Given the description of an element on the screen output the (x, y) to click on. 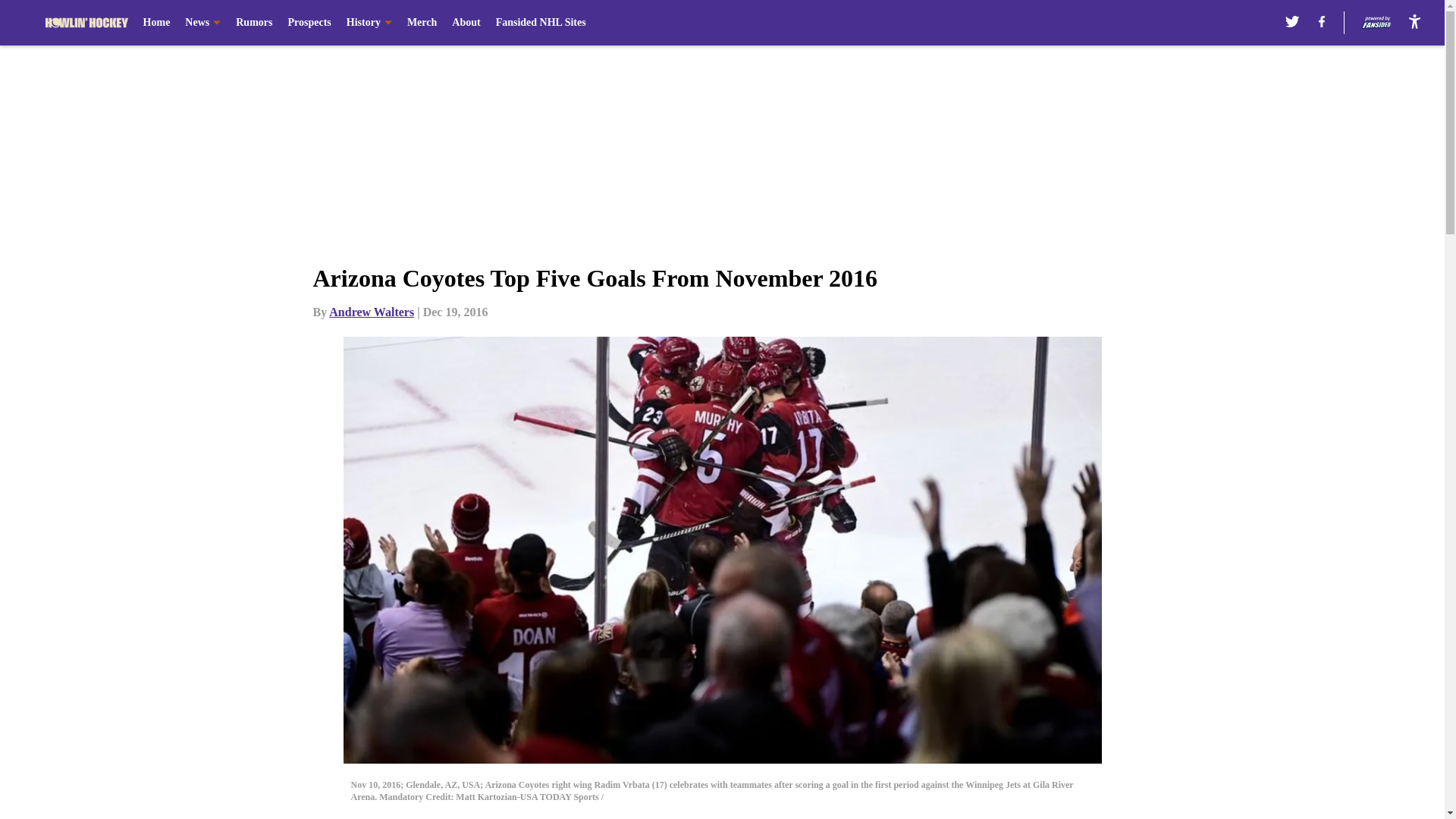
Andrew Walters (371, 311)
Merch (421, 22)
Fansided NHL Sites (541, 22)
About (465, 22)
Rumors (253, 22)
Prospects (308, 22)
Home (156, 22)
